Given the description of an element on the screen output the (x, y) to click on. 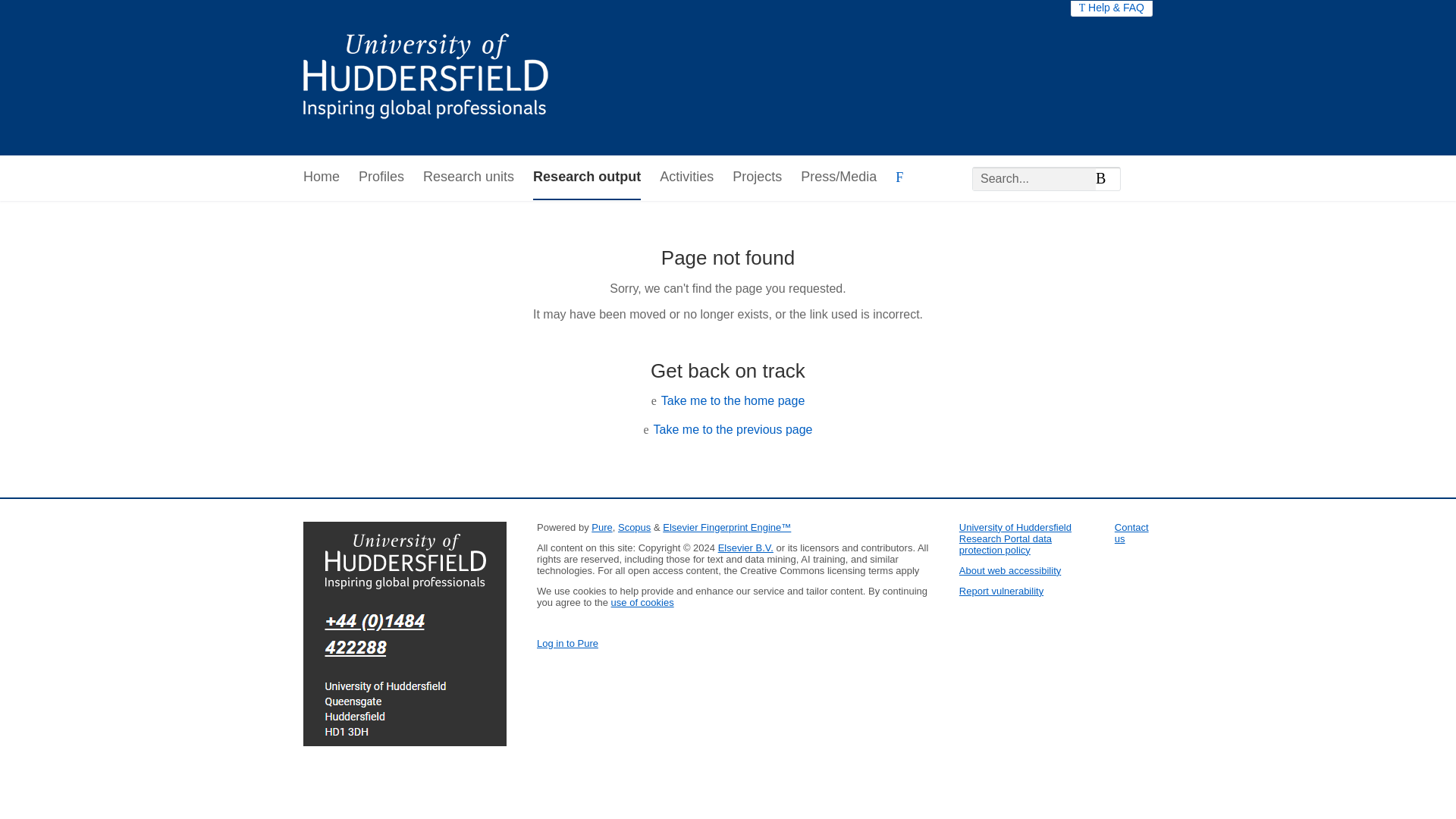
Contact us (1131, 532)
University of Huddersfield Research Portal Home (437, 77)
Pure (601, 527)
Report vulnerability (1001, 591)
Log in to Pure (567, 643)
Elsevier B.V. (745, 547)
Home (320, 177)
Scopus (633, 527)
Research output (586, 177)
Activities (686, 177)
Take me to the home page (733, 400)
use of cookies (642, 602)
Profiles (381, 177)
